Given the description of an element on the screen output the (x, y) to click on. 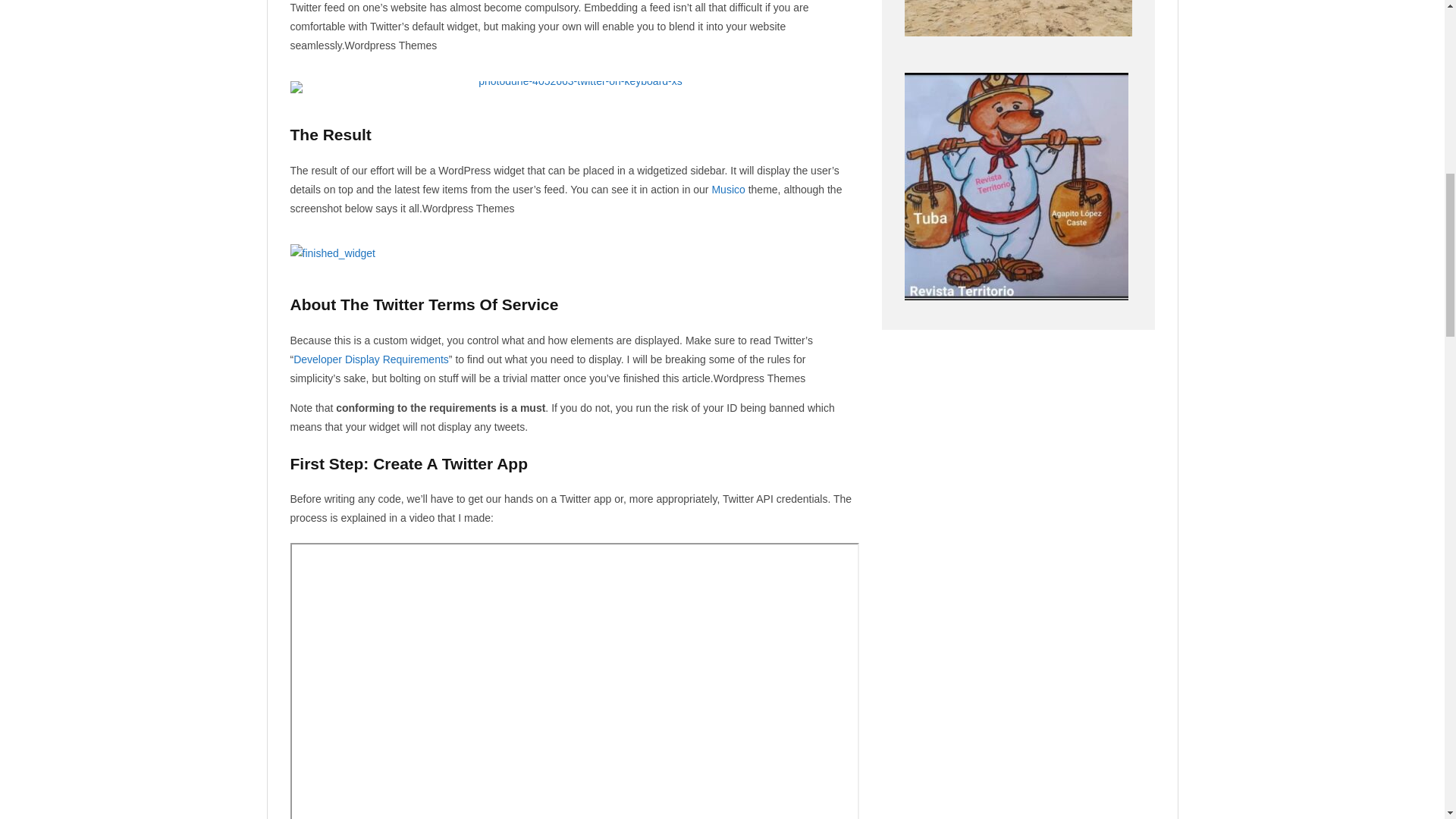
Developer Display Requirements (371, 358)
Musico (727, 189)
